Given the description of an element on the screen output the (x, y) to click on. 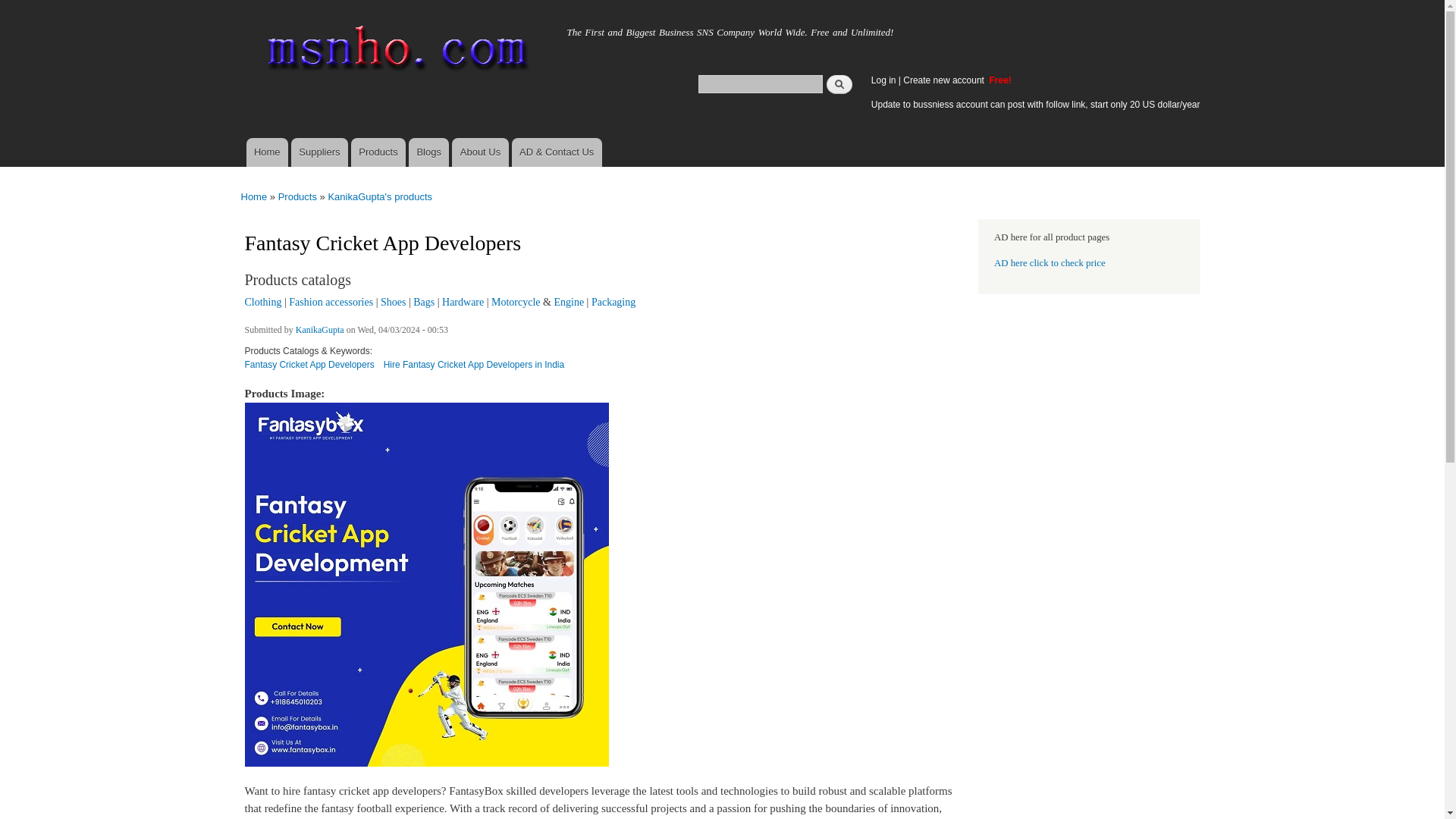
AD here click to check price (1049, 262)
Products (297, 196)
KanikaGupta's products (379, 196)
Products (378, 152)
Shoes (393, 301)
Search (839, 83)
Hardware (462, 301)
KanikaGupta (319, 331)
Home (266, 152)
Hire Fantasy Cricket App Developers in India (474, 369)
Fashion accessories (330, 301)
Skip to main content (690, 1)
About us (479, 152)
Bags (423, 301)
Packaging (612, 301)
